Given the description of an element on the screen output the (x, y) to click on. 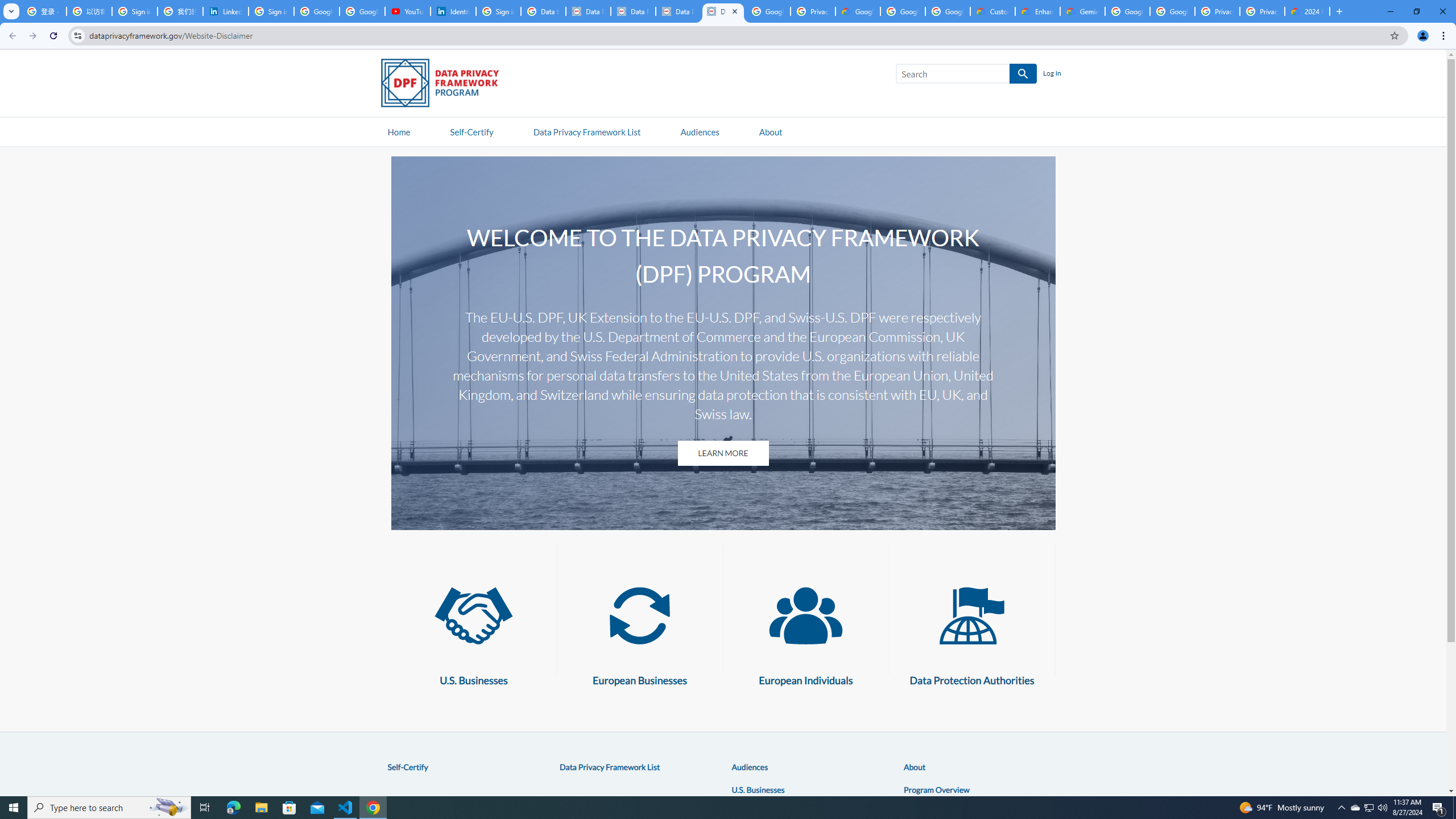
Program Overview (936, 789)
Data Privacy Framework (723, 11)
Google Workspace - Specific Terms (902, 11)
Self-Certify (407, 766)
Data Privacy Framework (633, 11)
European Businesses (639, 615)
Data Protection Authorities Data Protection Authorities (971, 630)
U.S. Businesses U.S. Businesses (473, 630)
